Given the description of an element on the screen output the (x, y) to click on. 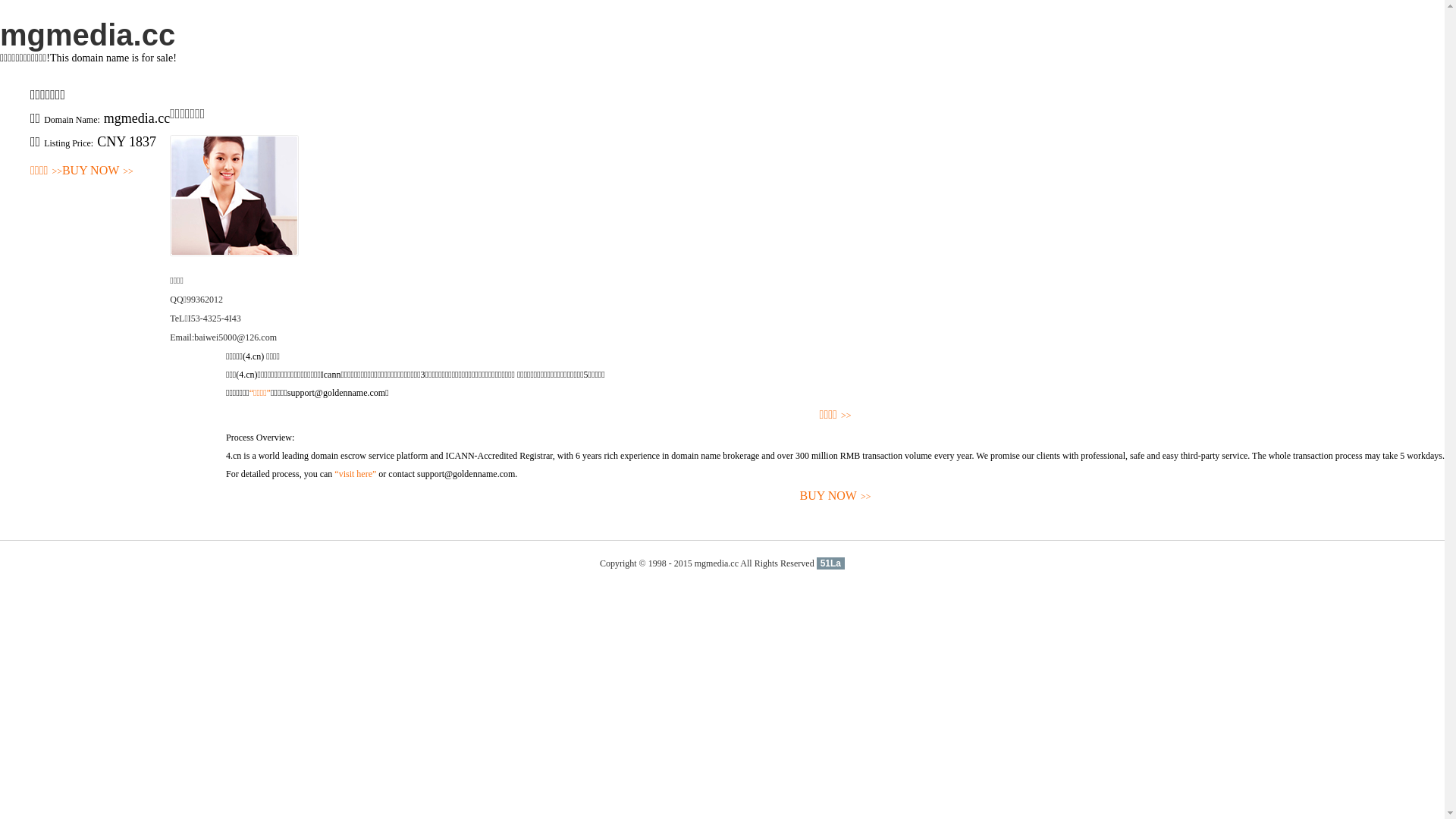
BUY NOW>> Element type: text (834, 496)
BUY NOW>> Element type: text (97, 170)
51La Element type: text (830, 563)
